Given the description of an element on the screen output the (x, y) to click on. 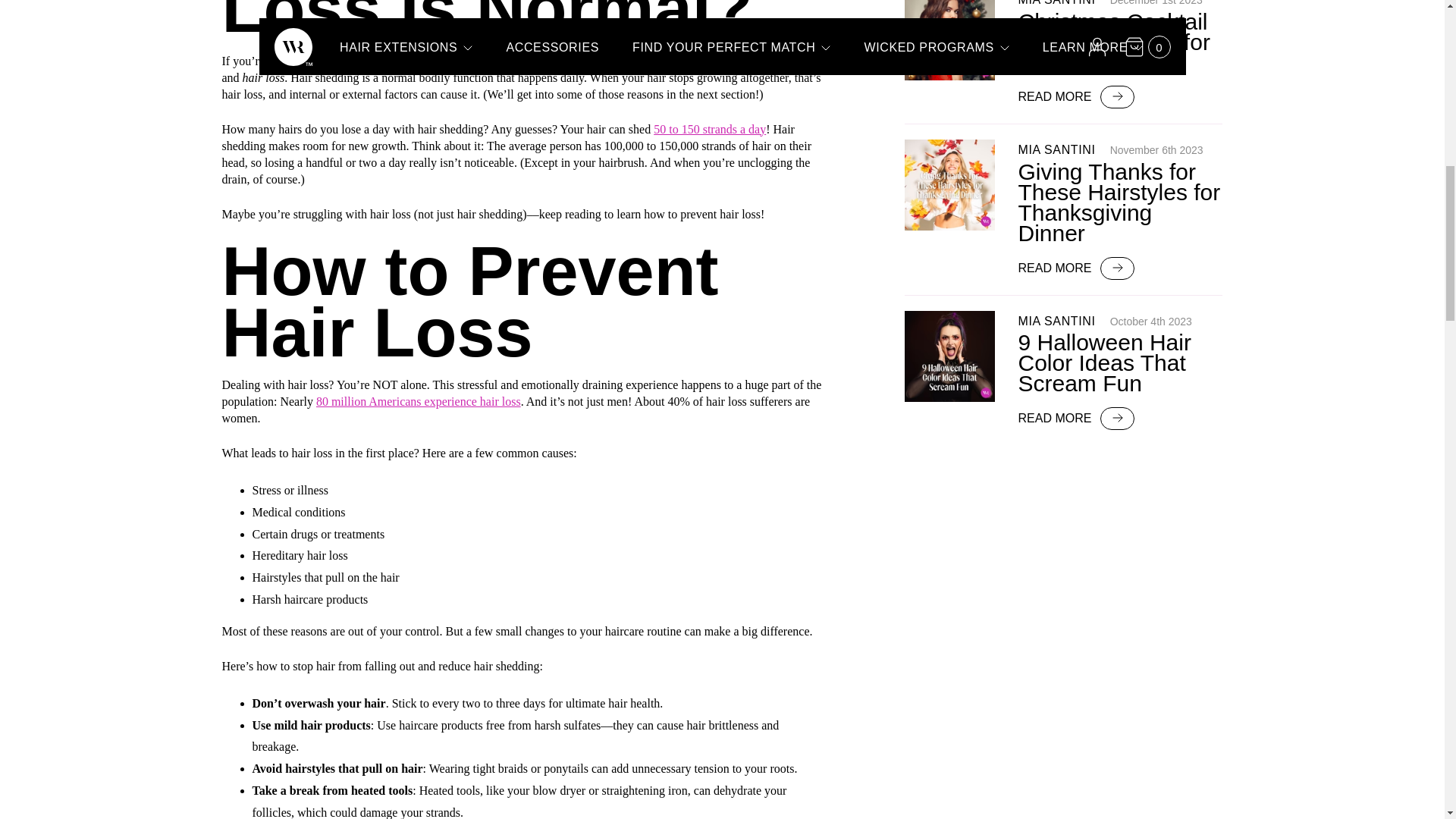
Arrow right (1117, 266)
Arrow right (1117, 417)
Arrow right (1117, 95)
